Given the description of an element on the screen output the (x, y) to click on. 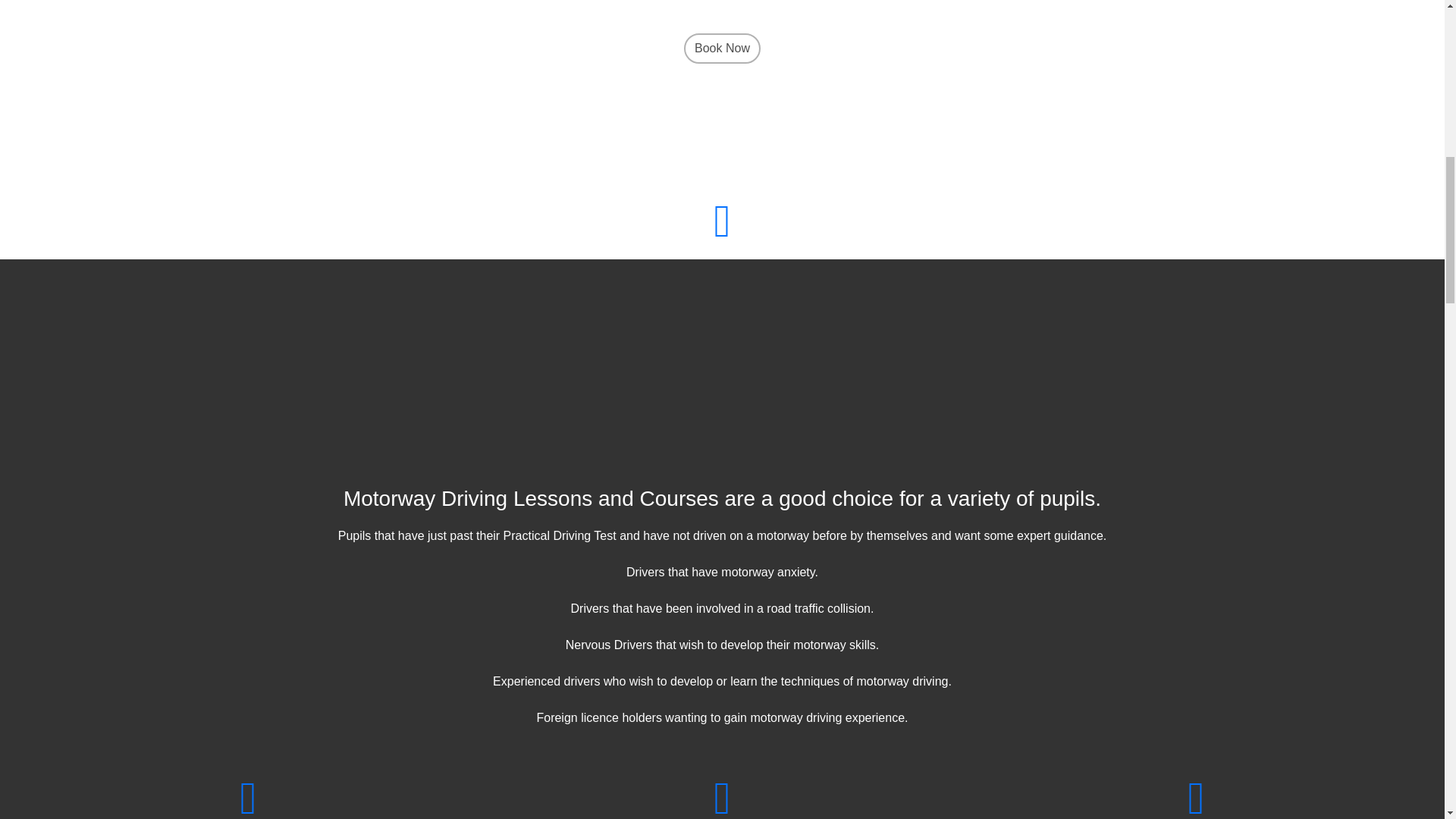
Experienced Drivers (247, 797)
Book Now (722, 48)
Nervous Drivers (721, 797)
Foreign Licence Holders (1195, 797)
